Given the description of an element on the screen output the (x, y) to click on. 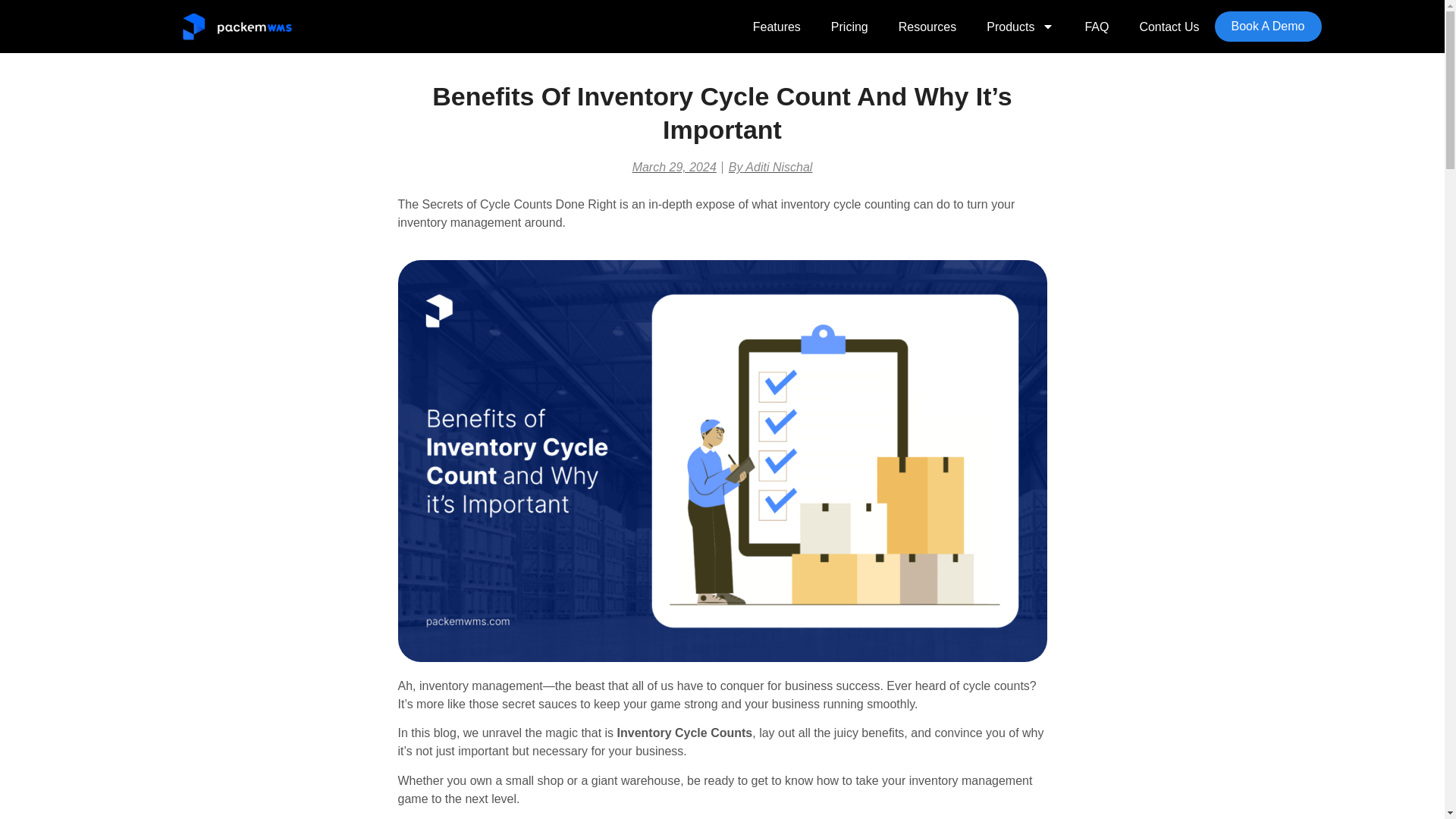
FAQ (1096, 27)
Pricing (849, 27)
Contact Us (1169, 27)
Resources (927, 27)
Products (1019, 27)
Features (776, 27)
Book A Demo (1268, 26)
